Given the description of an element on the screen output the (x, y) to click on. 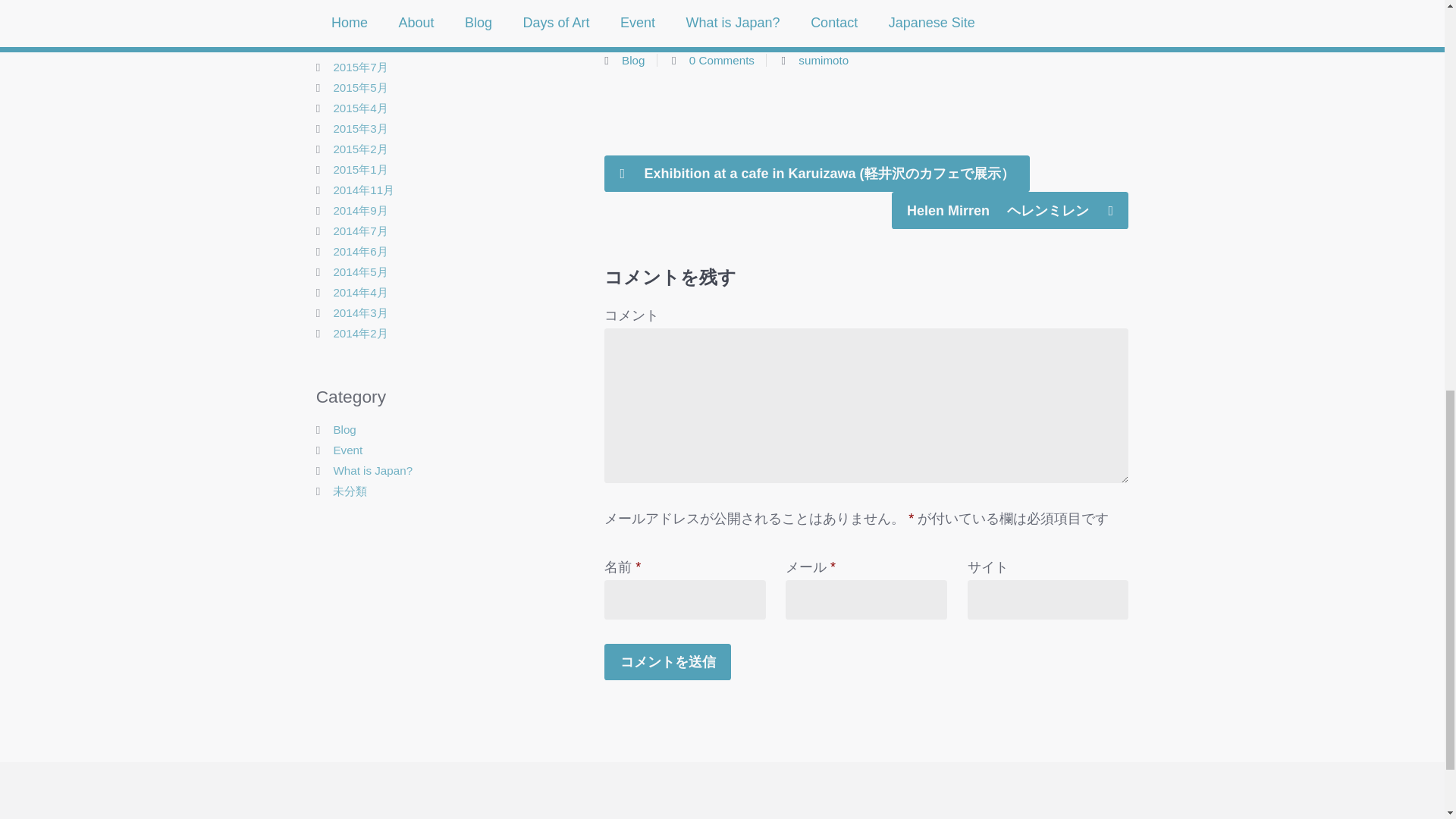
sumimoto (822, 60)
0 Comments (721, 60)
Blog (633, 60)
